Given the description of an element on the screen output the (x, y) to click on. 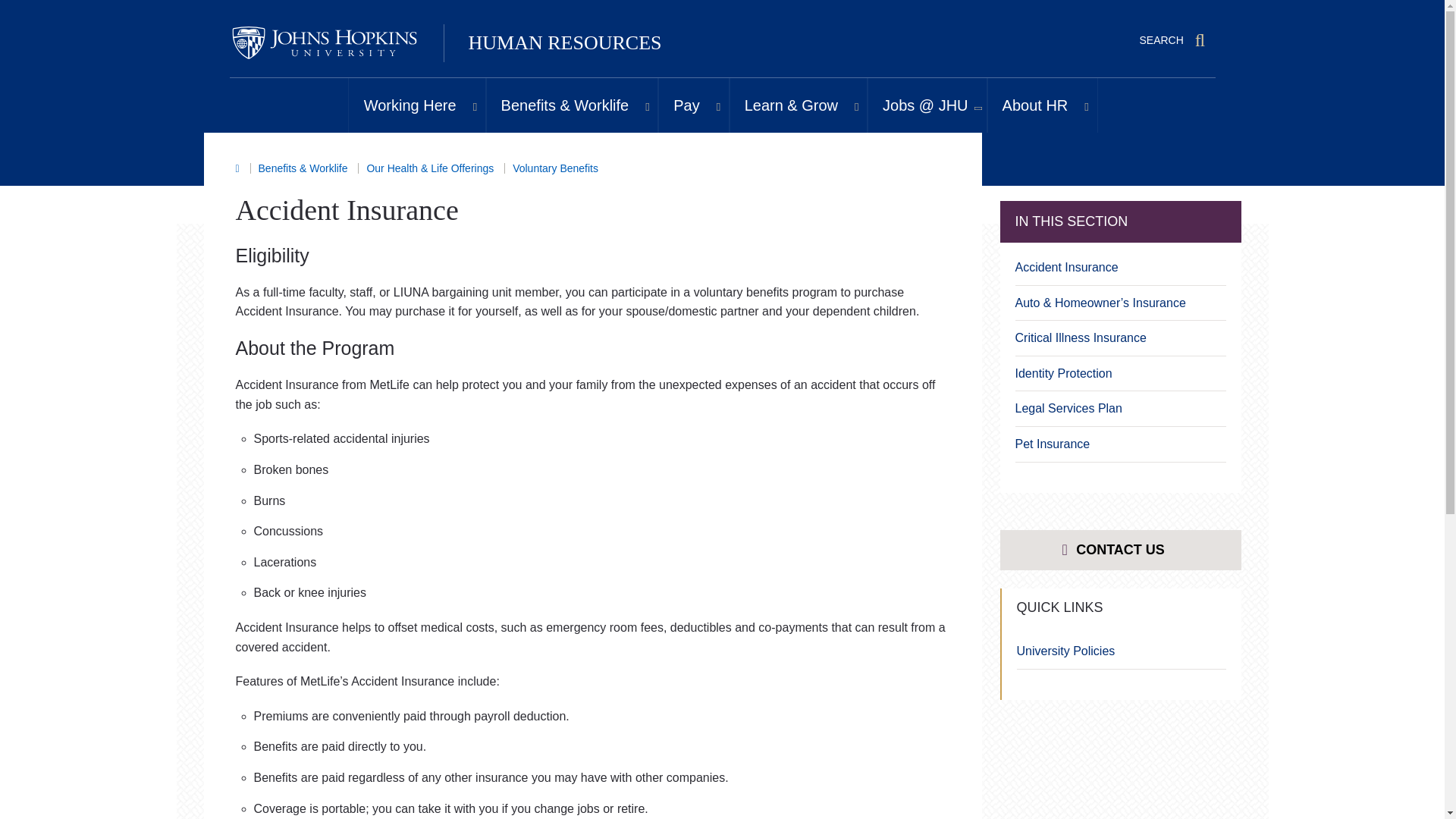
Search (1199, 40)
Go to Voluntary Benefits. (555, 168)
Working Here (407, 104)
Johns Hopkins University Human Resources (323, 43)
Pay (682, 104)
HUMAN RESOURCES (565, 42)
